Given the description of an element on the screen output the (x, y) to click on. 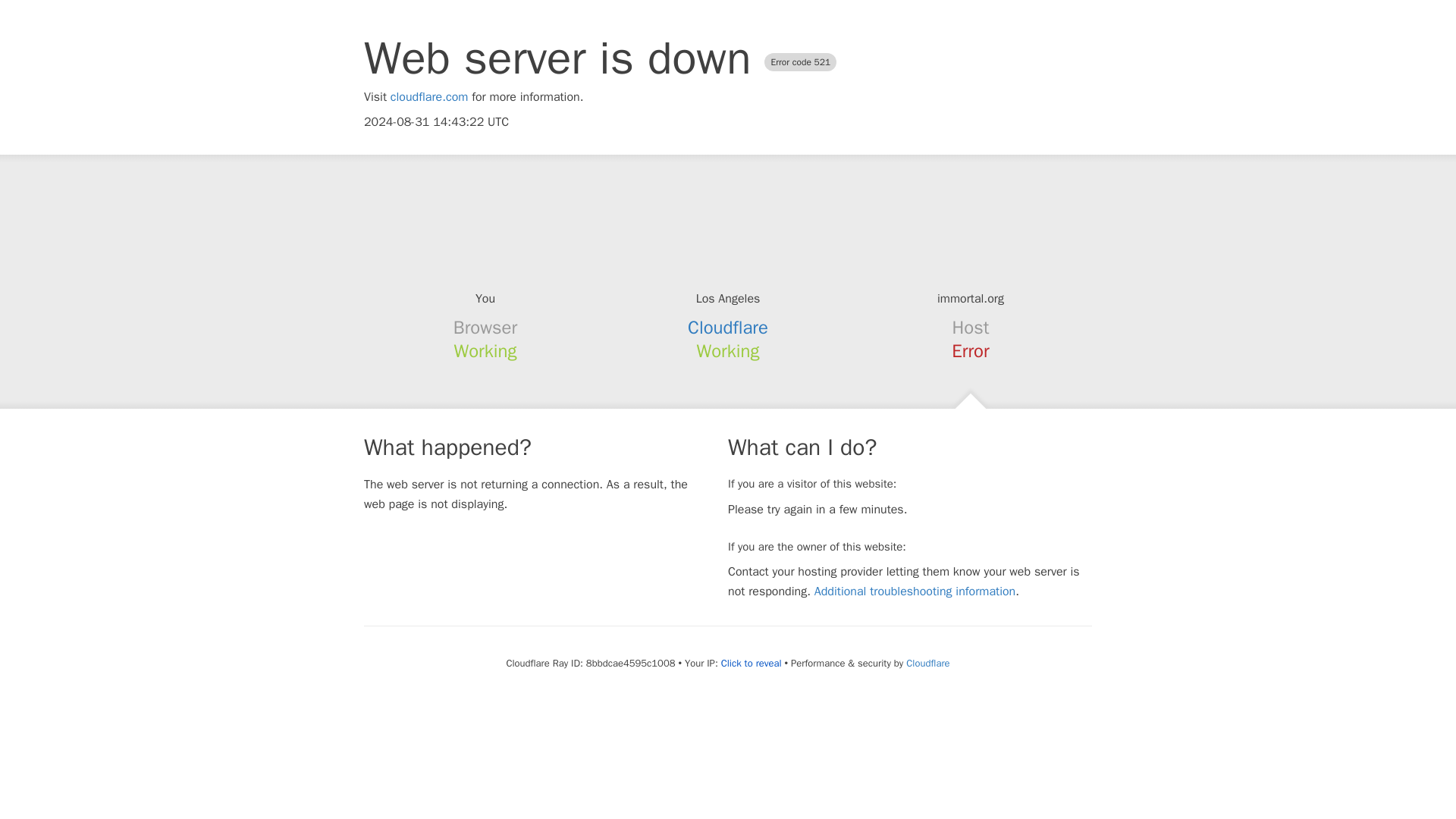
Cloudflare (927, 662)
Cloudflare (727, 327)
Additional troubleshooting information (913, 590)
Click to reveal (750, 663)
cloudflare.com (429, 96)
